Given the description of an element on the screen output the (x, y) to click on. 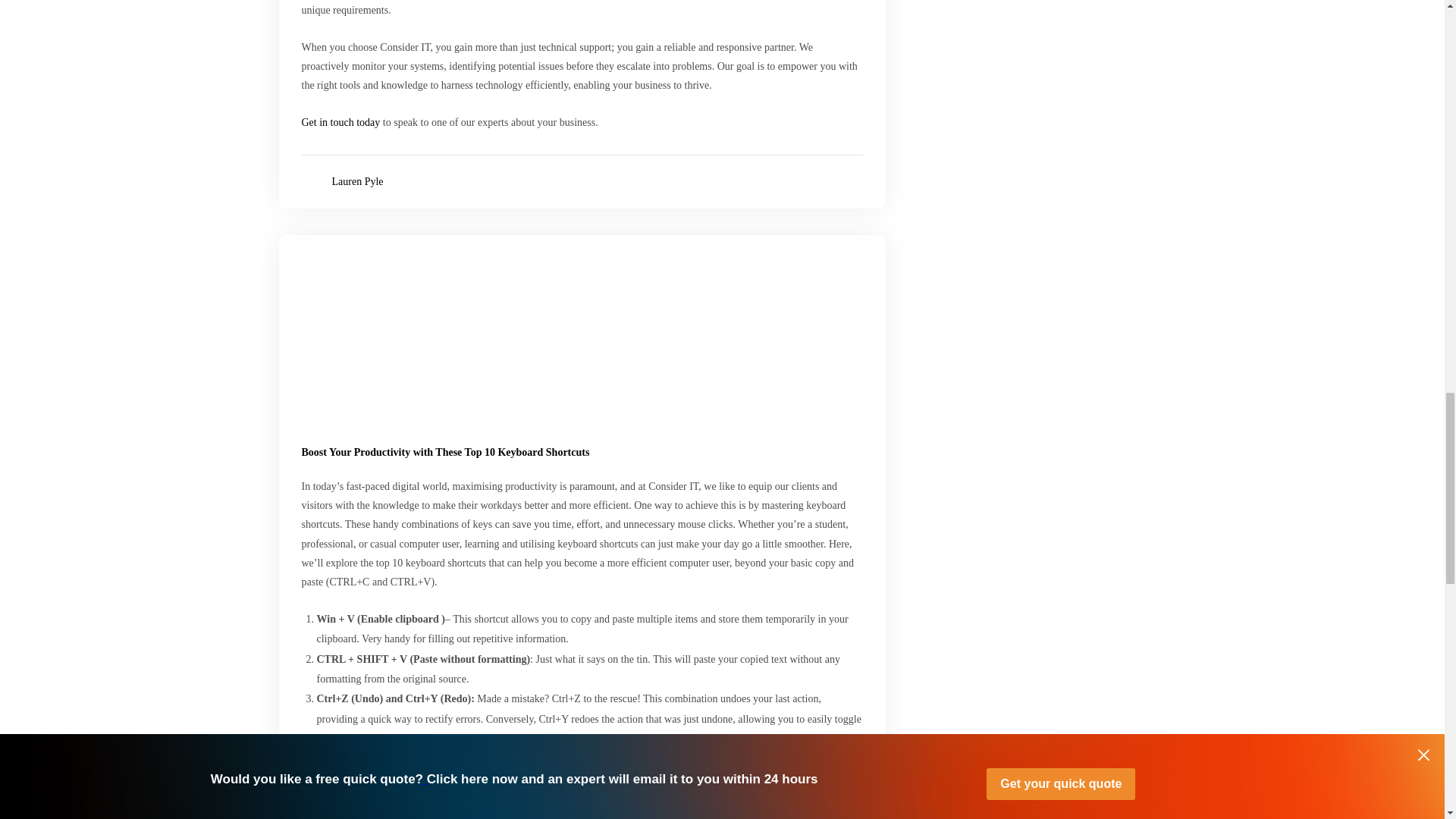
Posts by Lauren Pyle (357, 182)
